Given the description of an element on the screen output the (x, y) to click on. 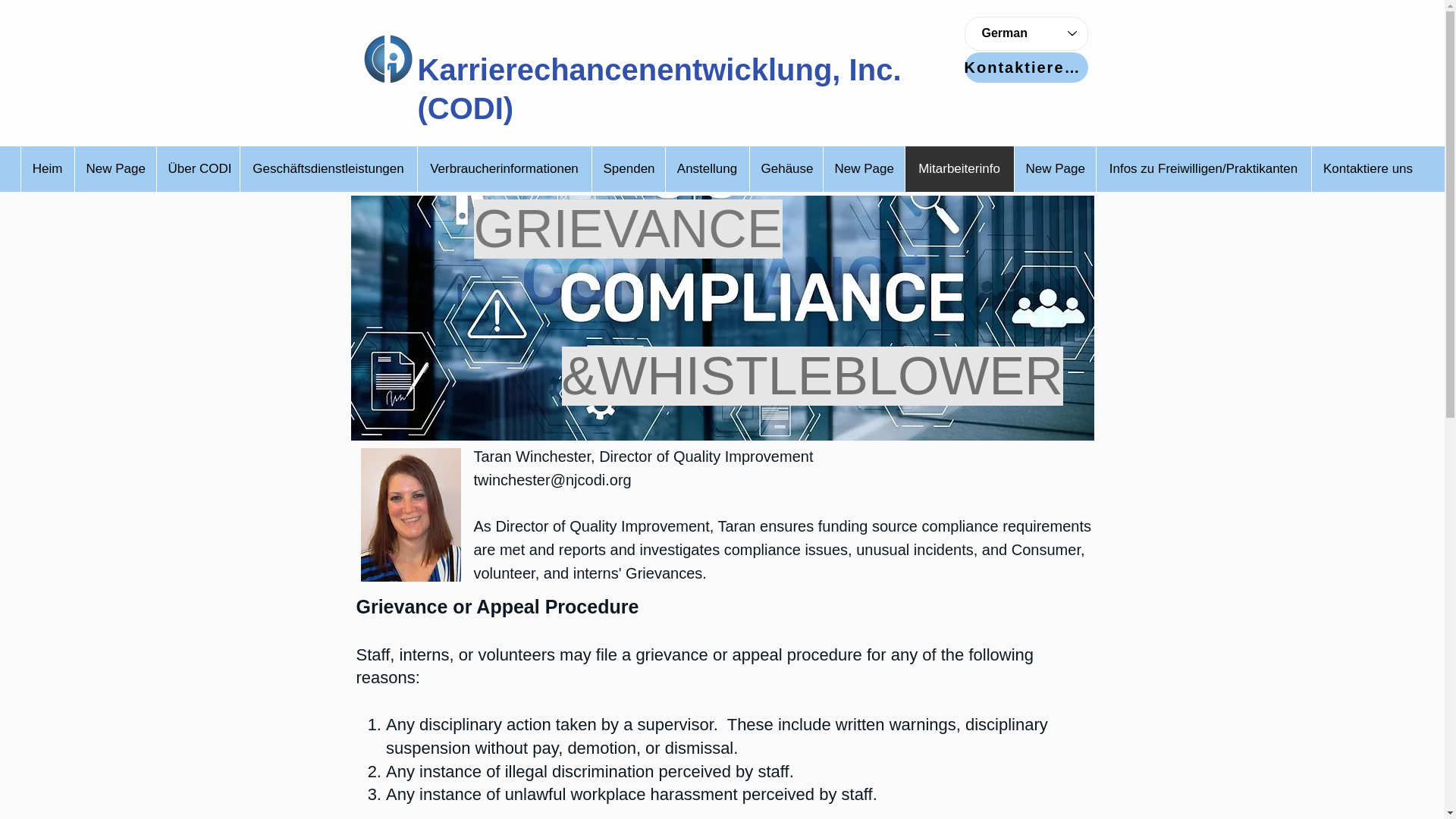
Spenden (628, 168)
New Page (114, 168)
Kontaktiere uns (1025, 67)
Mitarbeiterinfo (958, 168)
Anstellung (705, 168)
Heim (47, 168)
New Page (863, 168)
Kontaktiere uns (1366, 168)
Verbraucherinformationen (503, 168)
New Page (1053, 168)
